Given the description of an element on the screen output the (x, y) to click on. 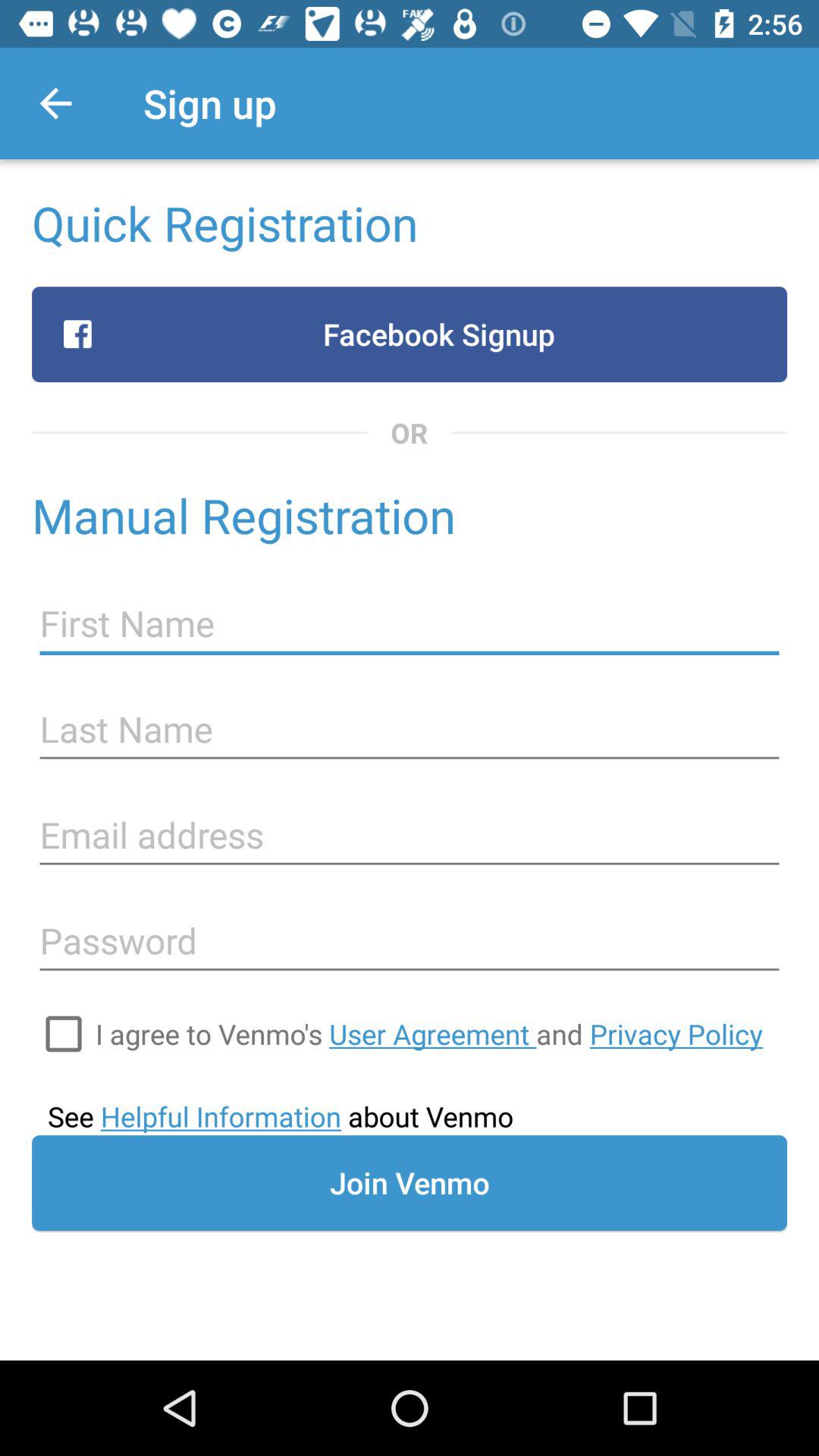
enter email address (409, 835)
